Given the description of an element on the screen output the (x, y) to click on. 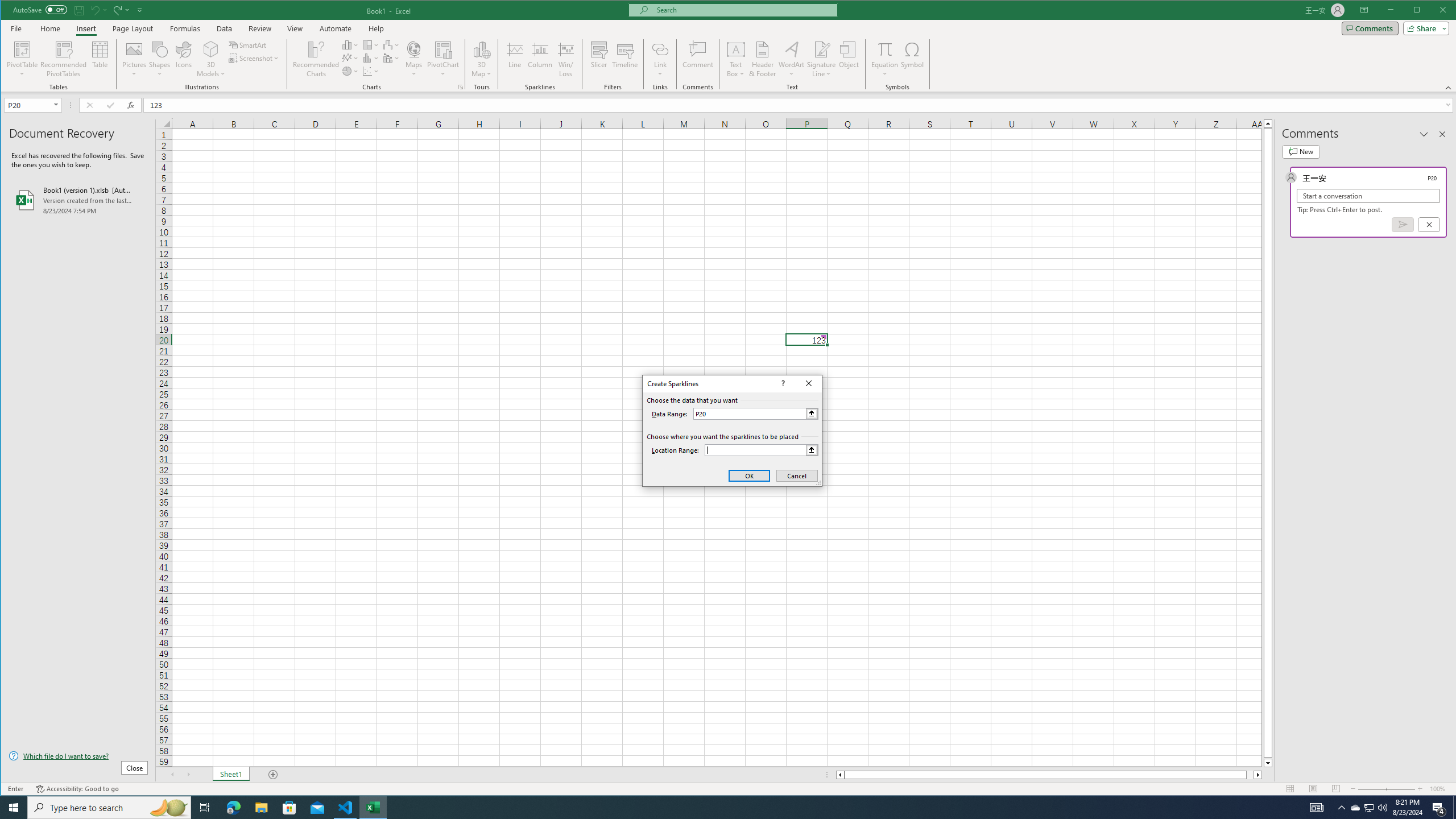
Symbol... (912, 59)
Pictures (134, 59)
Column (540, 59)
Text Box (735, 59)
Icons (183, 59)
Post comment (Ctrl + Enter) (1402, 224)
SmartArt... (248, 44)
Start a conversation (1368, 195)
Show desktop (1454, 807)
